Given the description of an element on the screen output the (x, y) to click on. 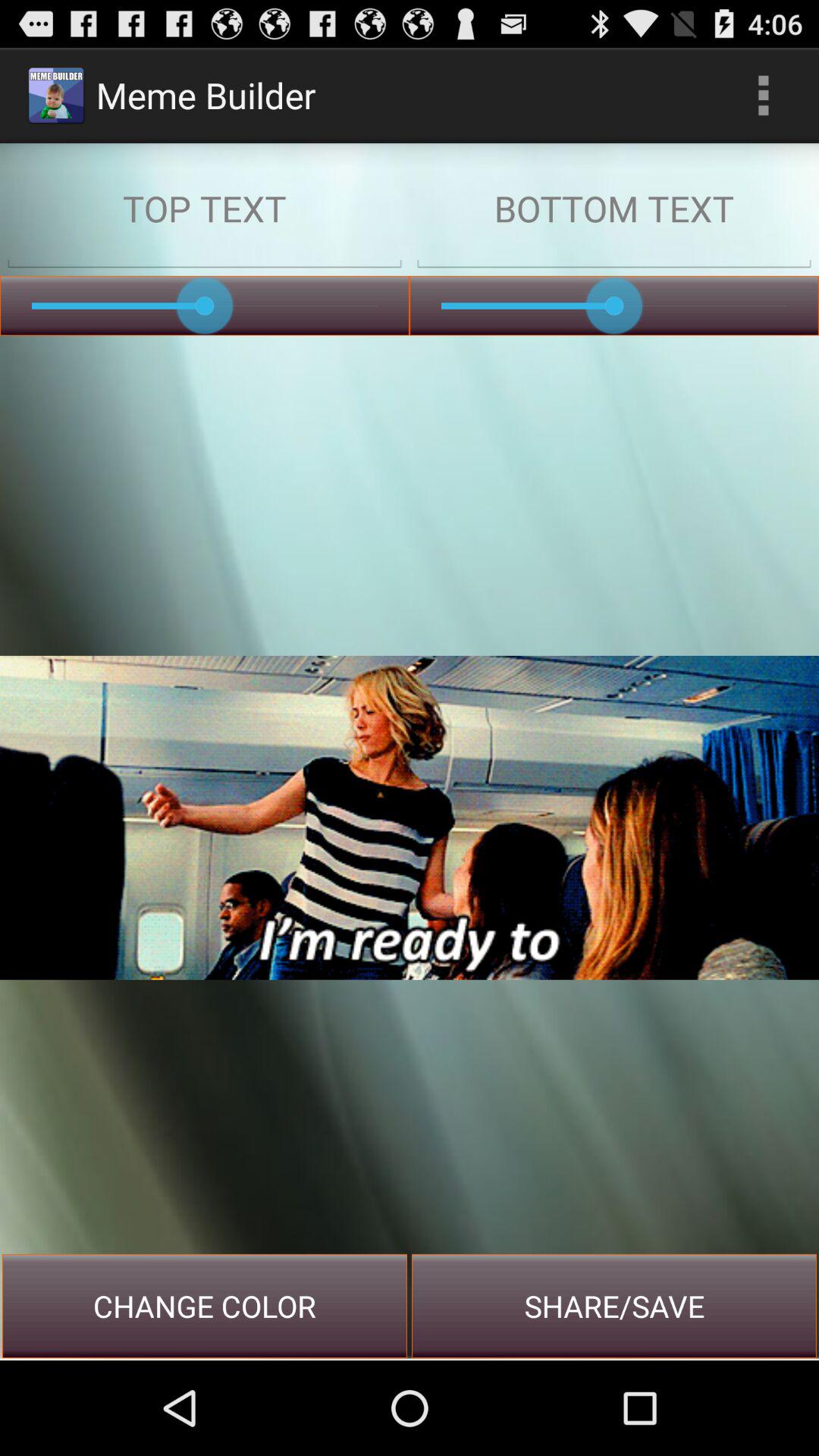
turn off the share/save item (613, 1306)
